Given the description of an element on the screen output the (x, y) to click on. 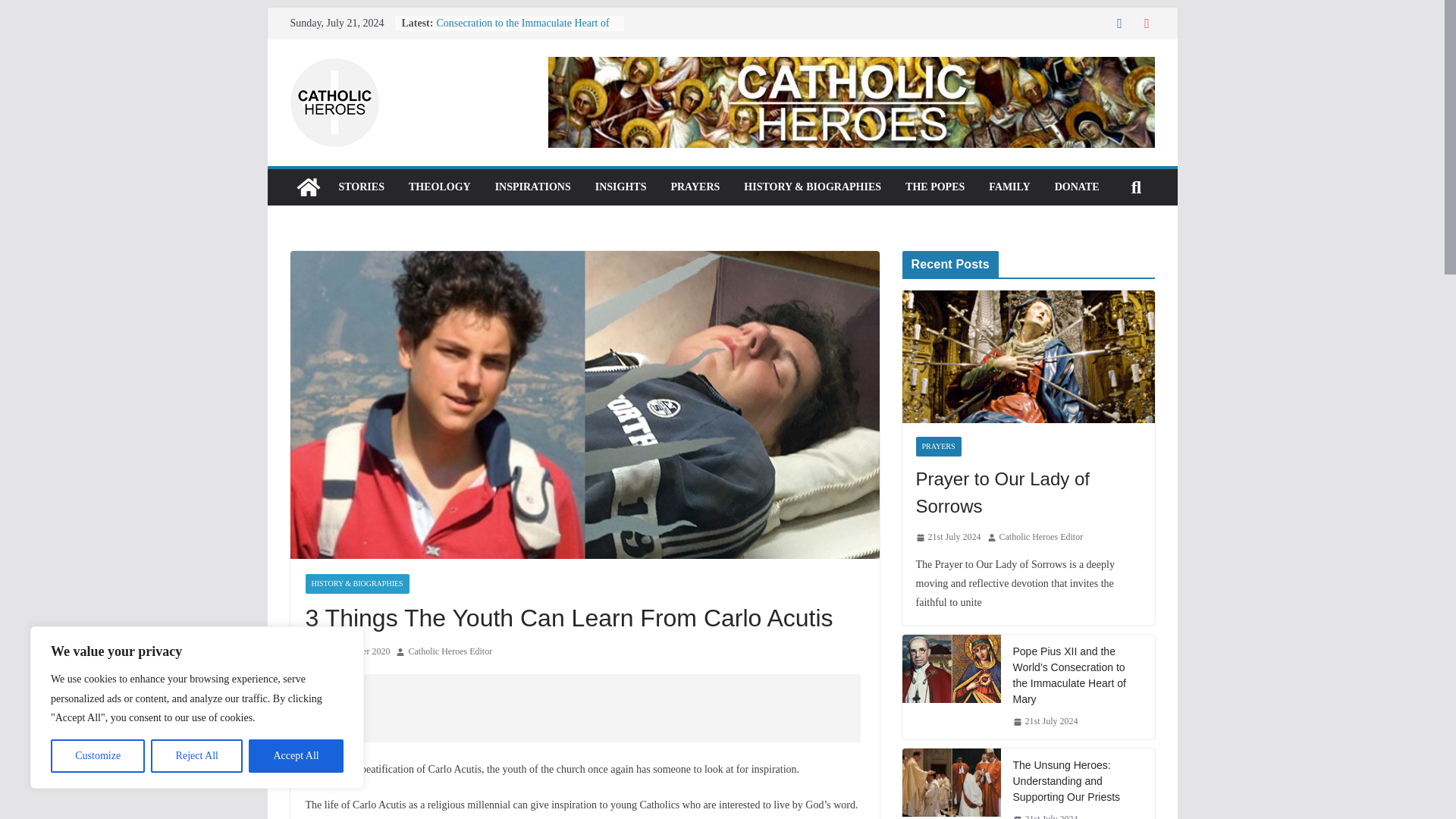
Catholic Heroes Editor (449, 651)
INSIGHTS (620, 187)
Consecration to the Immaculate Heart of Mary (521, 30)
STORIES (360, 187)
THEOLOGY (439, 187)
Customize (97, 756)
PRAYERS (694, 187)
Advertisement (584, 708)
Consecration to the Immaculate Heart of Mary (521, 30)
THE POPES (934, 187)
5:28 pm (347, 651)
DONATE (1076, 187)
INSPIRATIONS (532, 187)
8th November 2020 (347, 651)
